Given the description of an element on the screen output the (x, y) to click on. 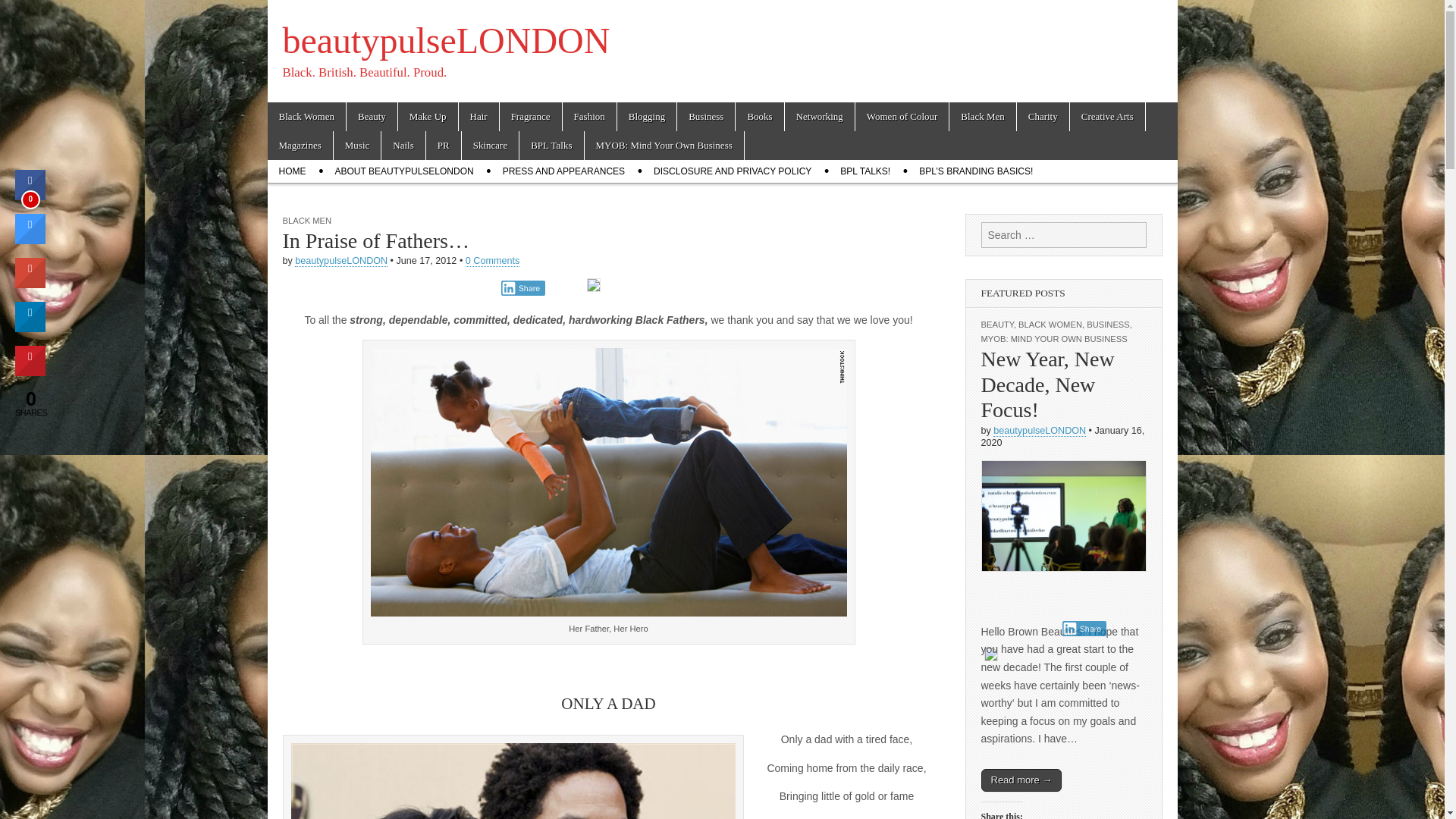
Music (357, 145)
BPL TALKS! (864, 170)
Make Up (427, 116)
Hair (478, 116)
Fashion (588, 116)
PRESS AND APPEARANCES (564, 170)
Skincare (489, 145)
Beauty (371, 116)
Women of Colour (902, 116)
Networking (819, 116)
Creative Arts (1107, 116)
ABOUT BEAUTYPULSELONDON (403, 170)
MYOB: Mind Your Own Business (664, 145)
